Given the description of an element on the screen output the (x, y) to click on. 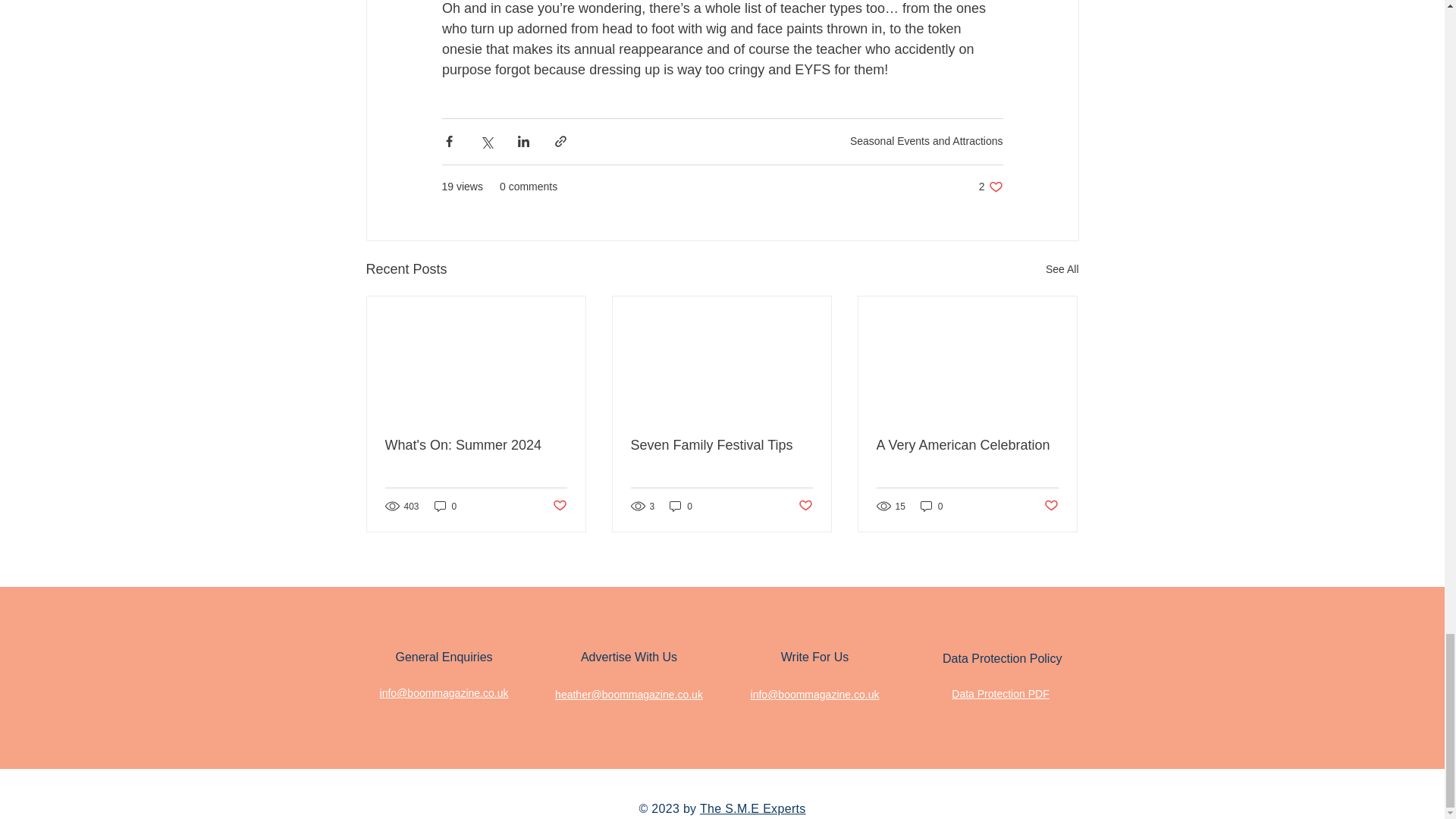
0 (445, 505)
Seasonal Events and Attractions (926, 141)
See All (1061, 269)
What's On: Summer 2024 (990, 186)
